Given the description of an element on the screen output the (x, y) to click on. 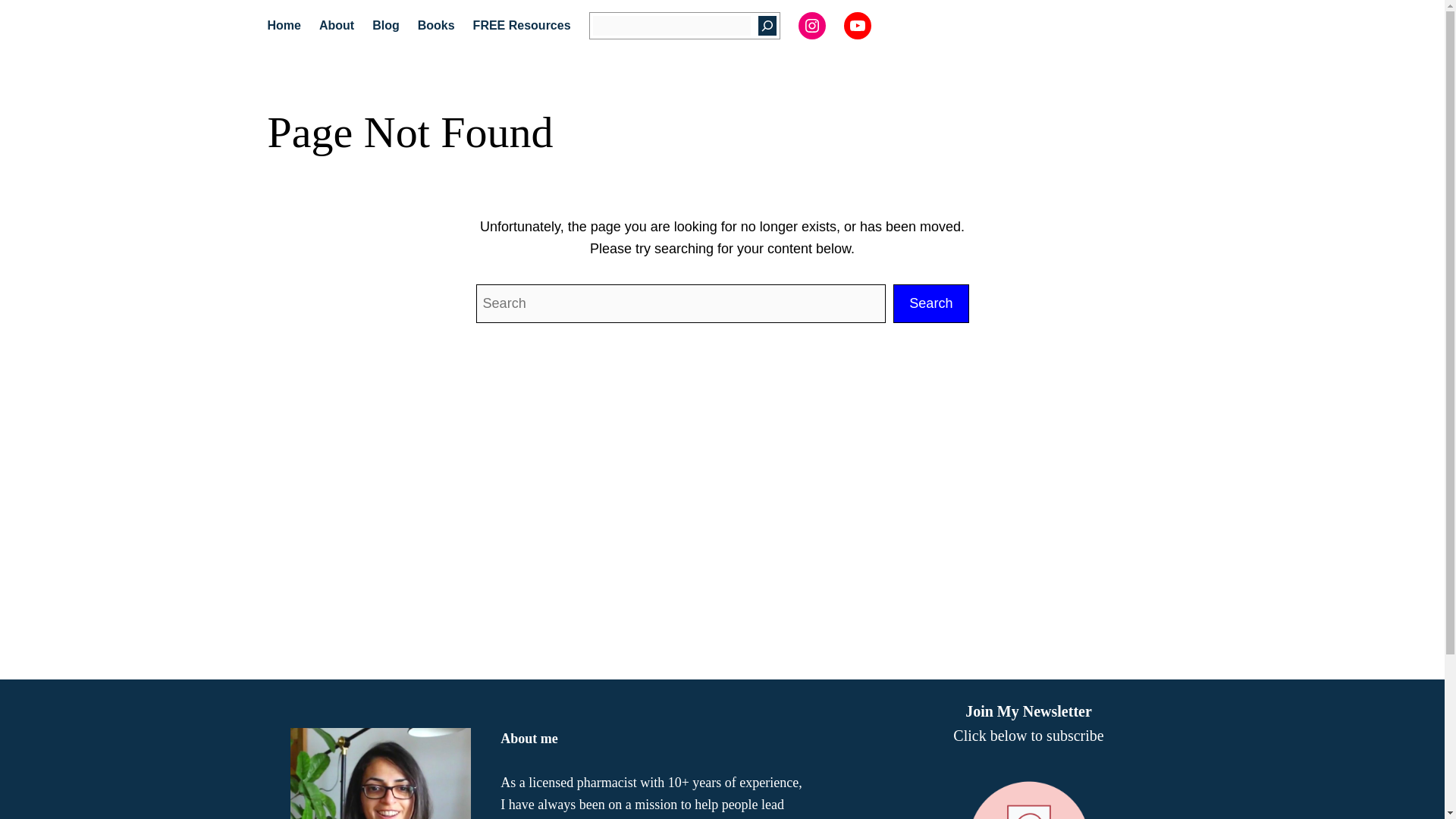
About (335, 25)
FREE Resources (521, 25)
Books (435, 25)
Blog (385, 25)
Instagram (811, 25)
YouTube (857, 25)
Search (930, 303)
Home (282, 25)
